Given the description of an element on the screen output the (x, y) to click on. 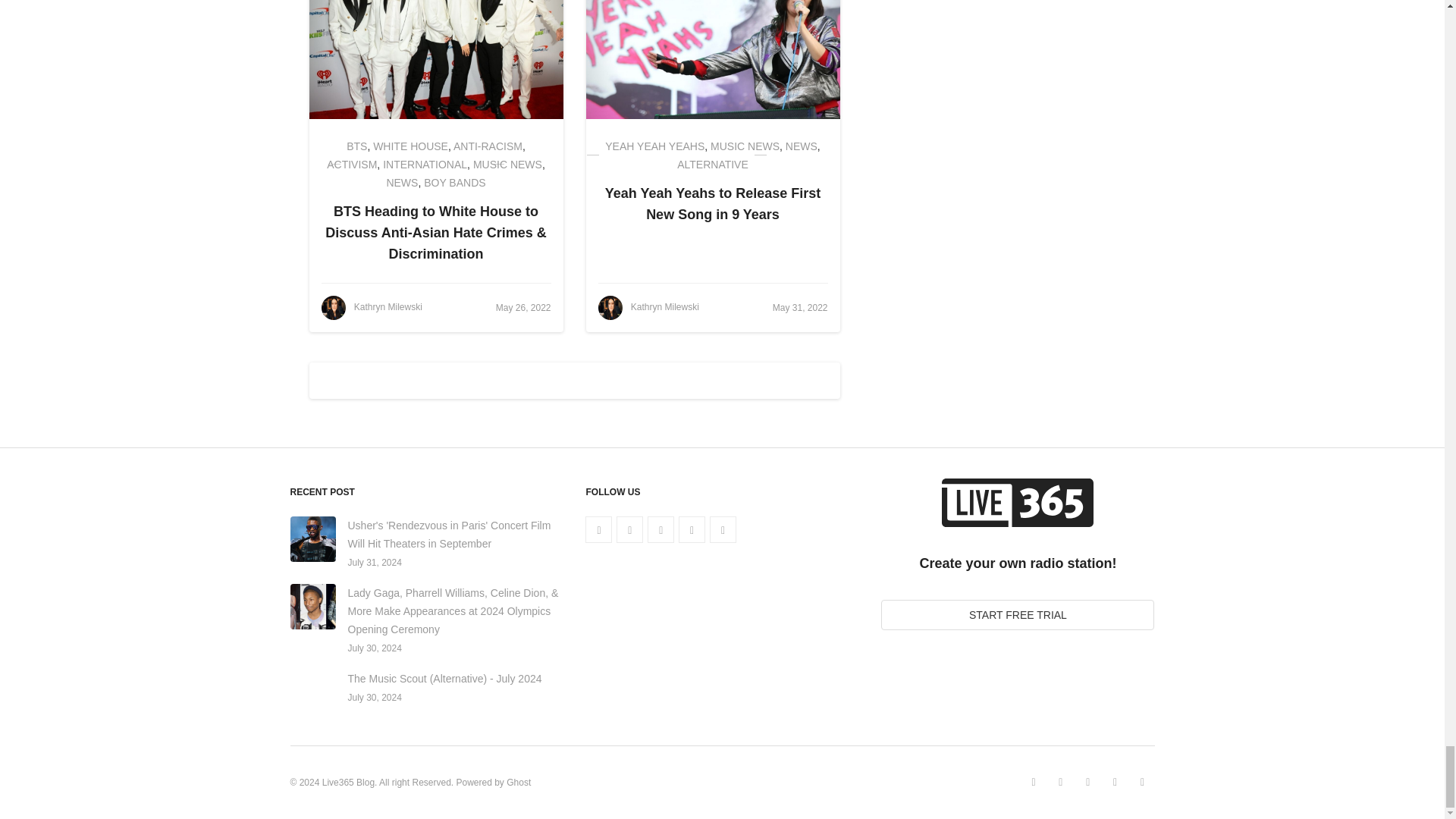
START FREE TRIAL (1017, 614)
